Given the description of an element on the screen output the (x, y) to click on. 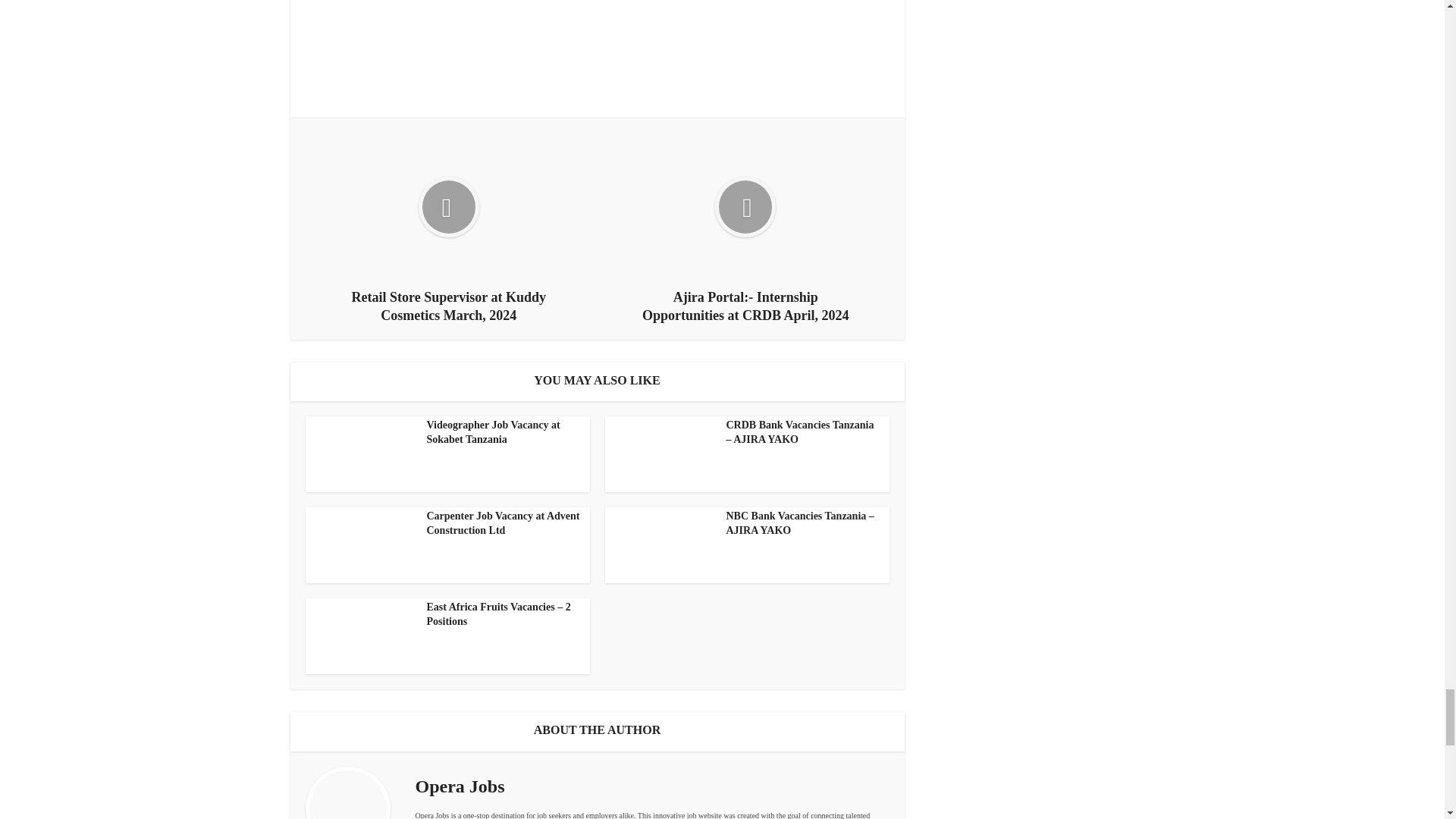
Carpenter Job Vacancy at Advent Construction Ltd (502, 523)
Ajira Portal:- Internship Opportunities at CRDB April, 2024 (745, 228)
Videographer Job Vacancy at Sokabet Tanzania (492, 432)
Retail Store Supervisor at Kuddy Cosmetics March, 2024 (449, 228)
